Given the description of an element on the screen output the (x, y) to click on. 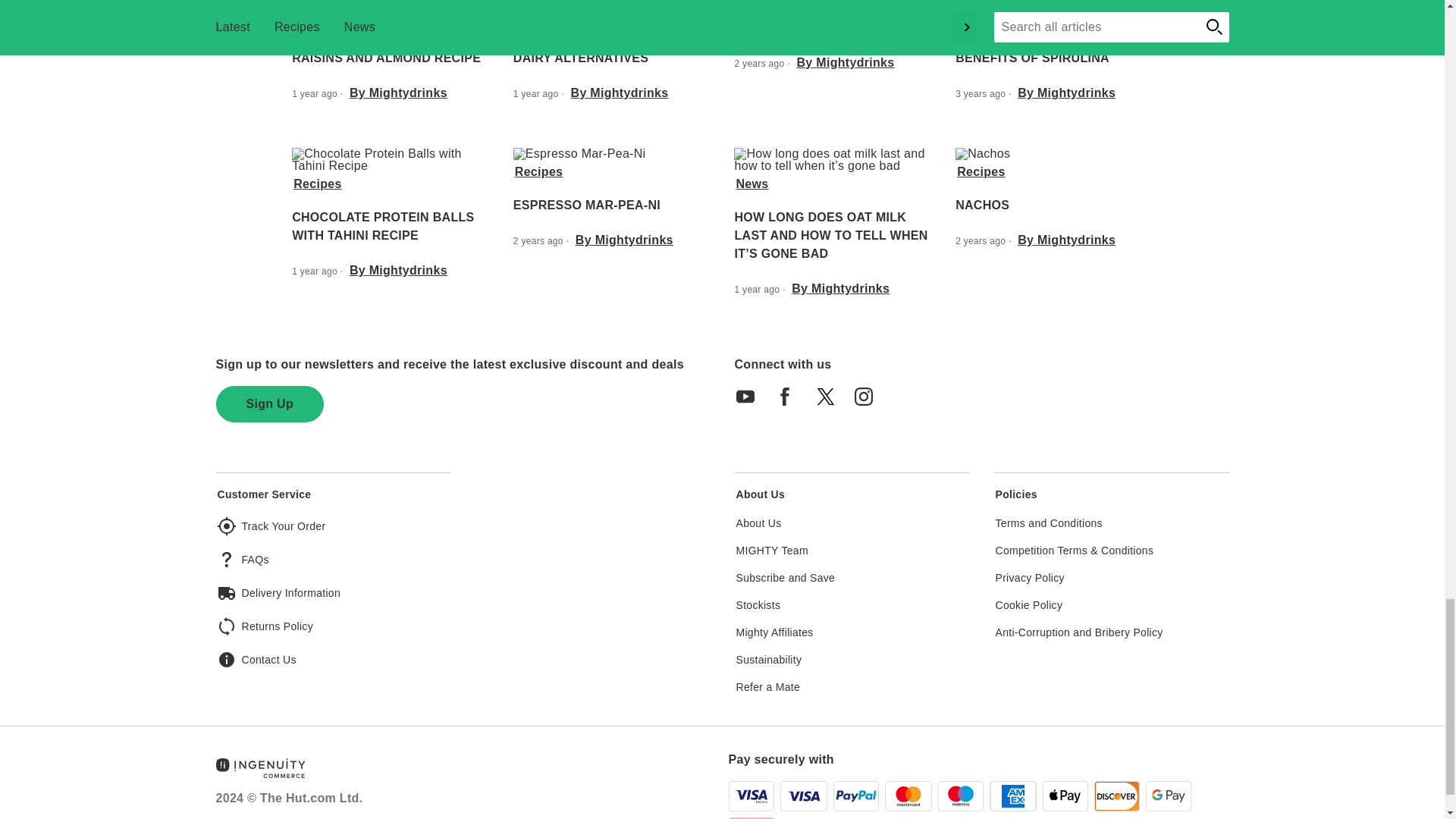
twitter (828, 402)
facebook (789, 402)
youtube (750, 402)
instagram (868, 402)
